Given the description of an element on the screen output the (x, y) to click on. 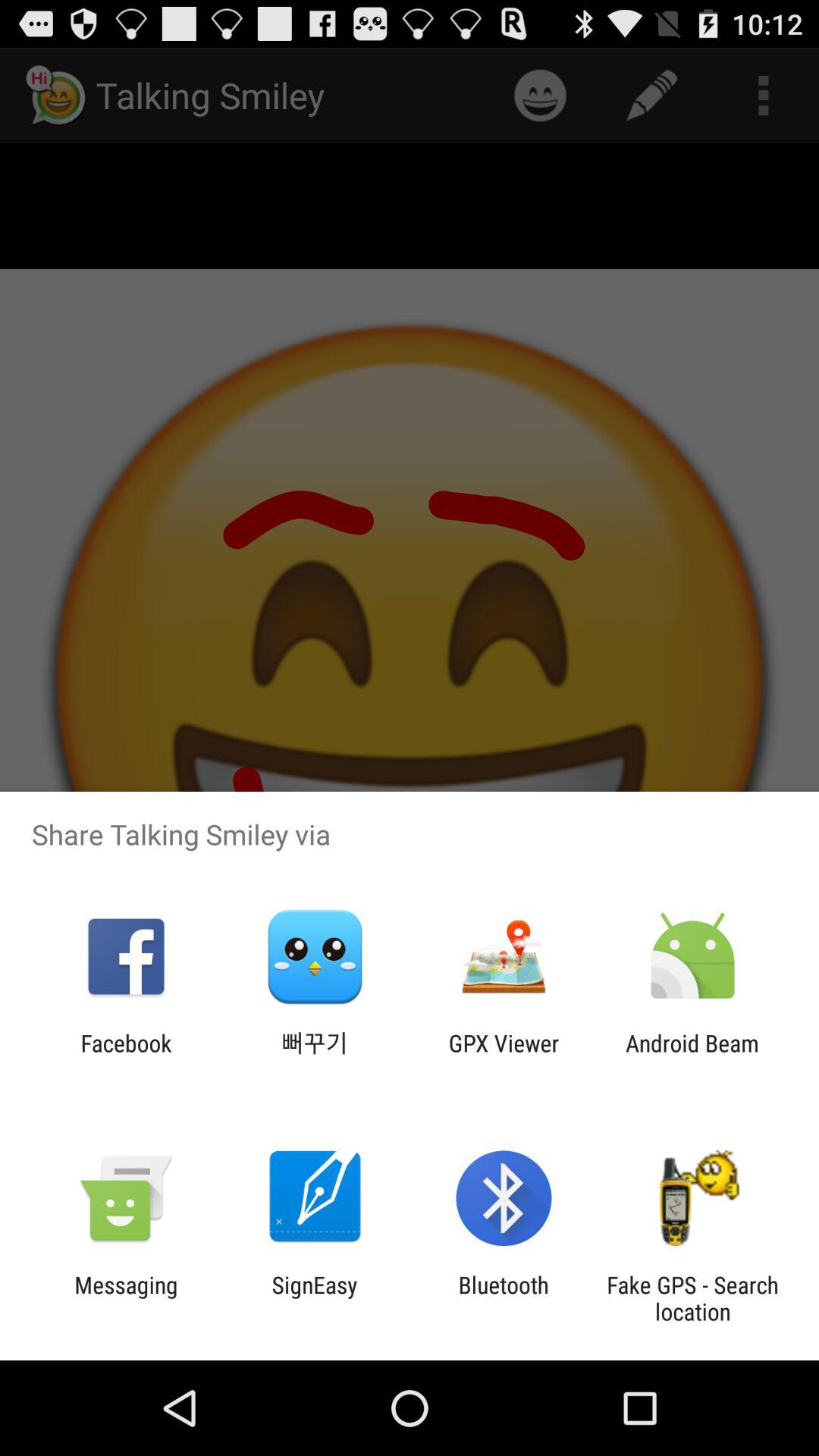
press icon to the right of the messaging app (314, 1298)
